Given the description of an element on the screen output the (x, y) to click on. 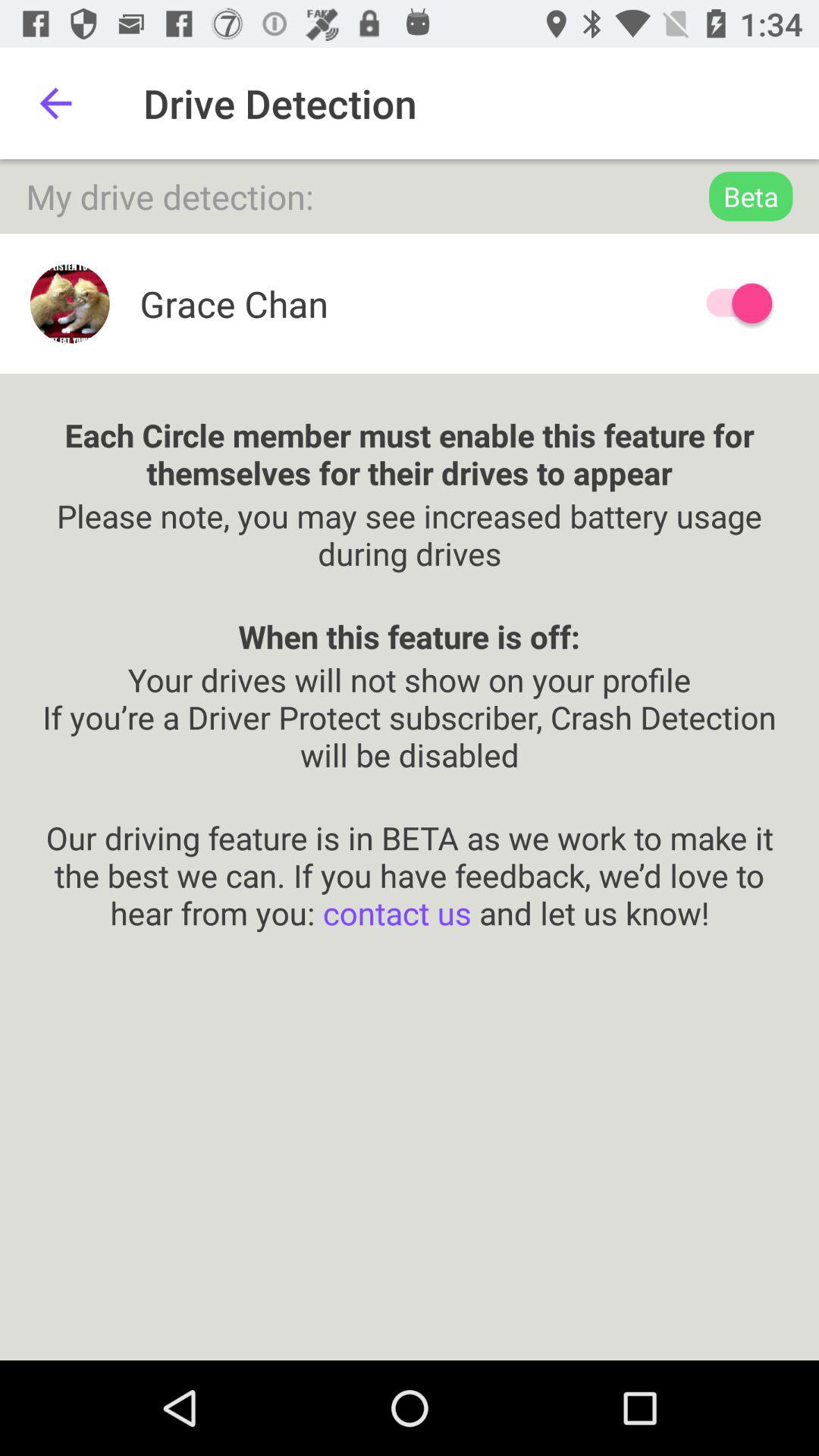
turn off the item to the right of the grace chan icon (731, 303)
